Given the description of an element on the screen output the (x, y) to click on. 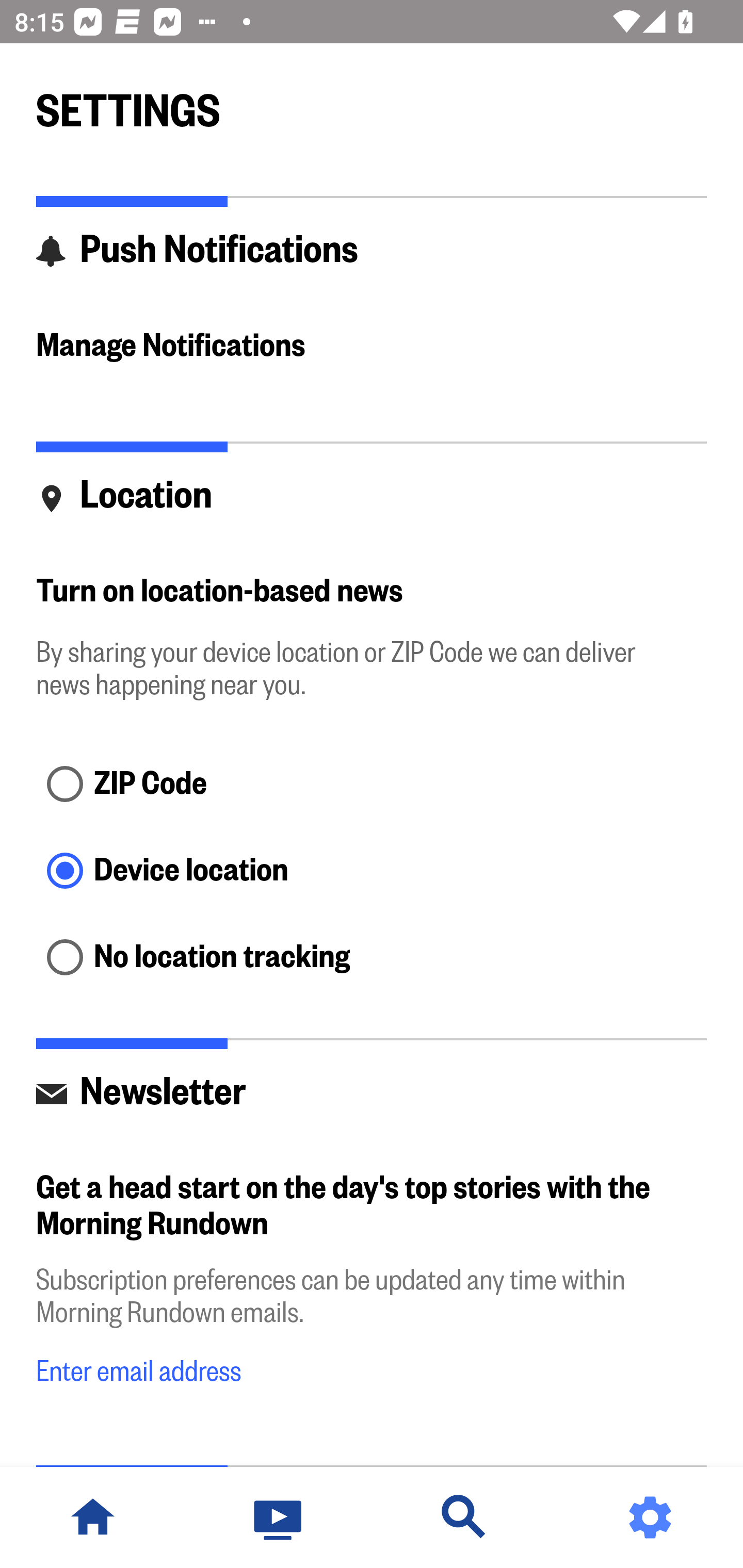
SETTINGS (371, 101)
Manage Notifications (371, 346)
ZIP Code (371, 785)
Device location (371, 872)
No location tracking (371, 958)
NBC News Home (92, 1517)
Watch (278, 1517)
Discover (464, 1517)
